Given the description of an element on the screen output the (x, y) to click on. 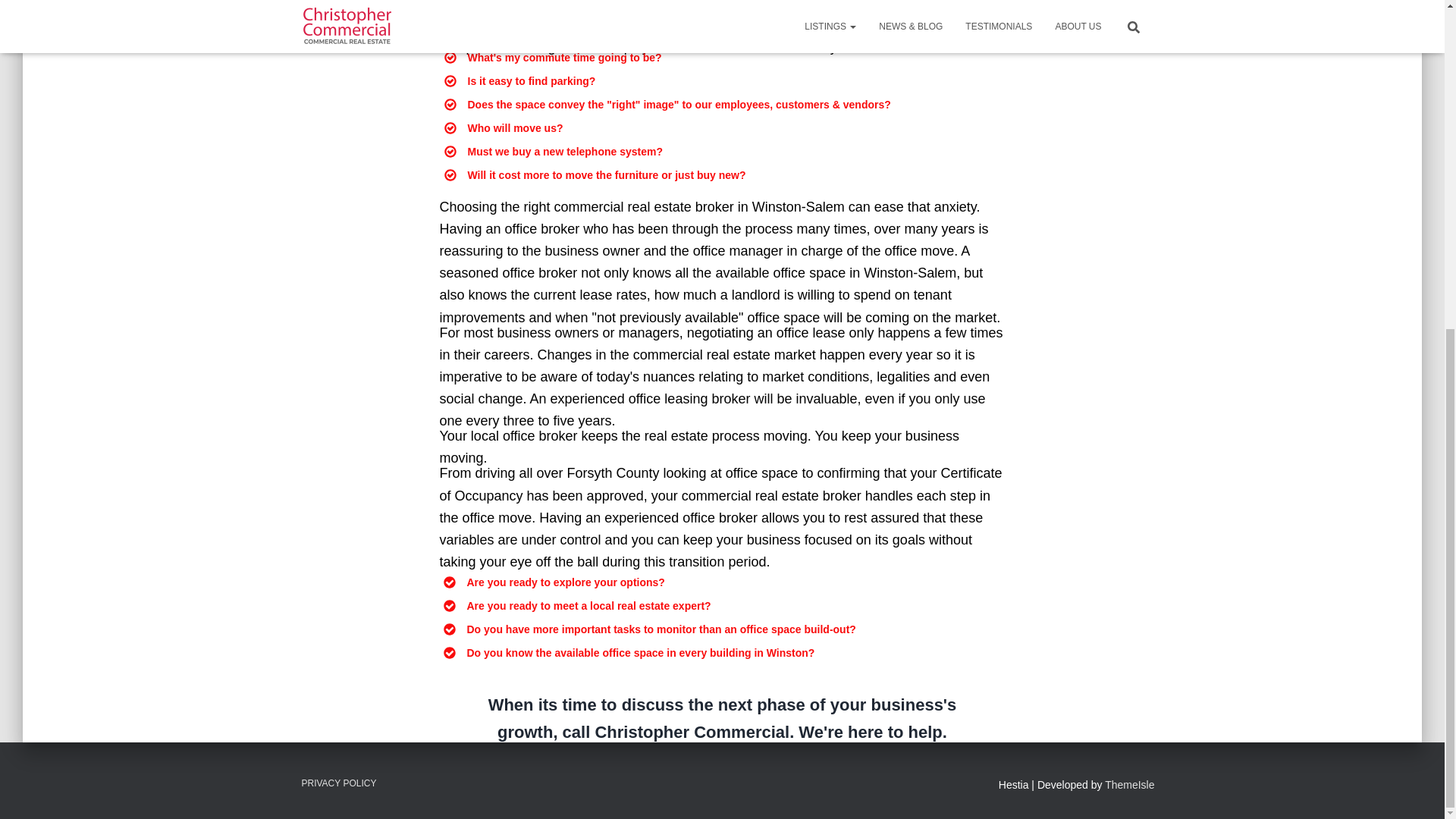
ThemeIsle (1129, 784)
PRIVACY POLICY (338, 783)
